Given the description of an element on the screen output the (x, y) to click on. 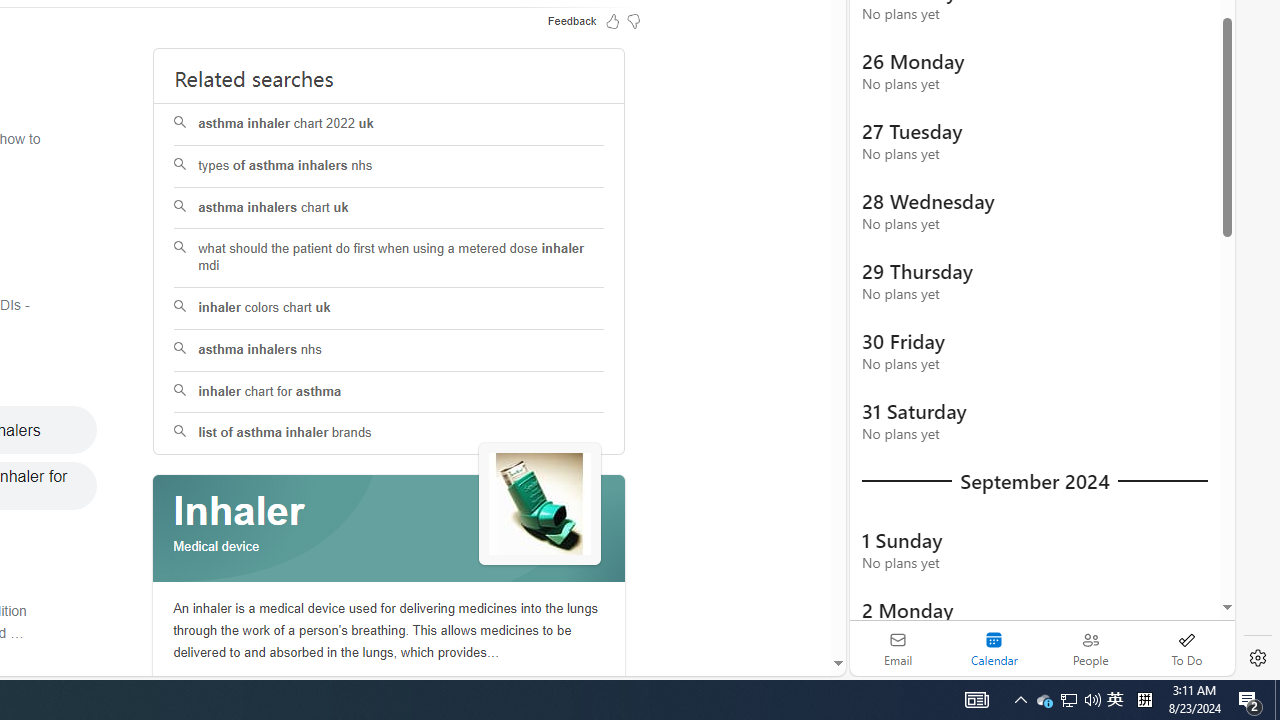
Feedback Dislike (633, 20)
asthma inhaler chart 2022 uk (389, 124)
Email (898, 648)
inhaler colors chart uk (388, 308)
To Do (1186, 648)
